Given the description of an element on the screen output the (x, y) to click on. 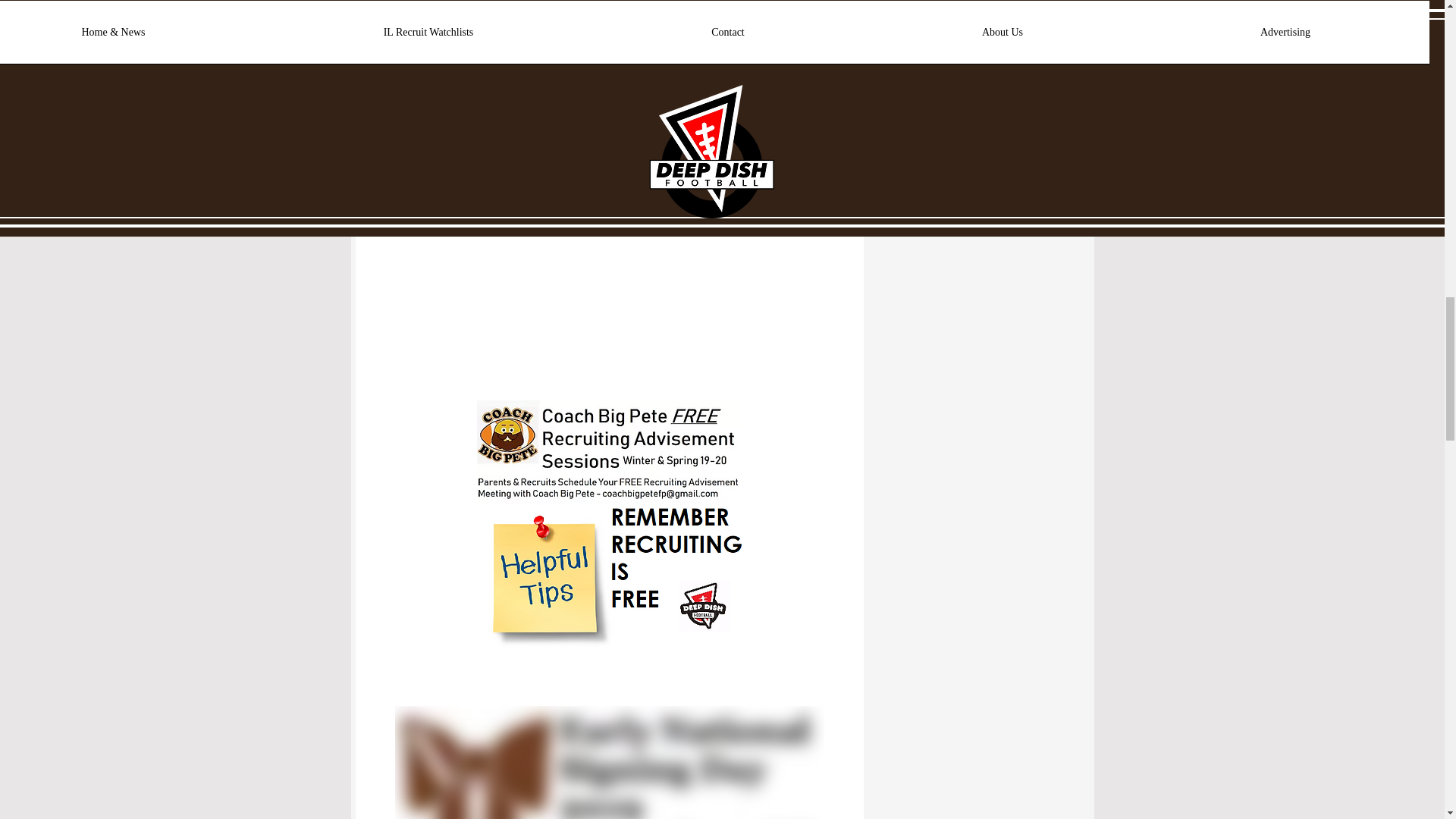
remote content (609, 229)
HUDL (413, 70)
Embedded Content (1245, 9)
TWITTER (424, 4)
